Given the description of an element on the screen output the (x, y) to click on. 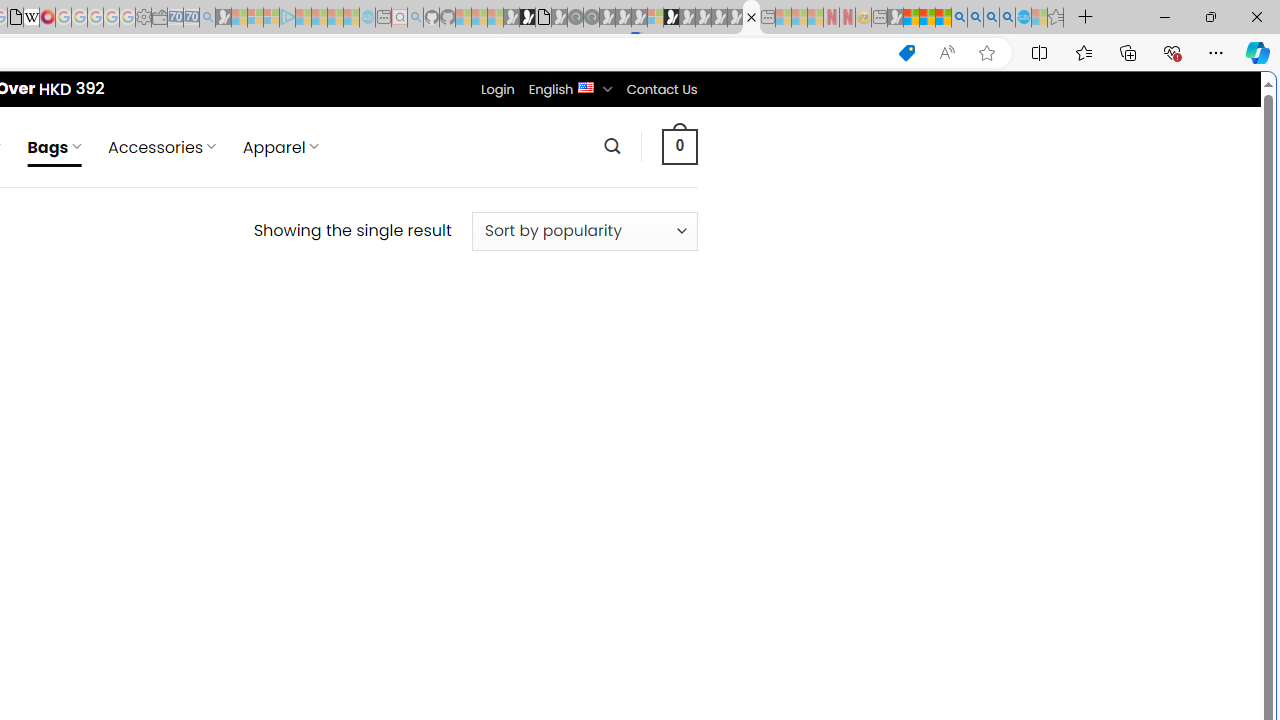
Shop order (584, 231)
Wallet - Sleeping (159, 17)
 0  (679, 146)
Contact Us (661, 89)
Contact Us (661, 89)
Microsoft Start Gaming - Sleeping (223, 17)
Home | Sky Blue Bikes - Sky Blue Bikes - Sleeping (367, 17)
Settings - Sleeping (143, 17)
MediaWiki (47, 17)
